Given the description of an element on the screen output the (x, y) to click on. 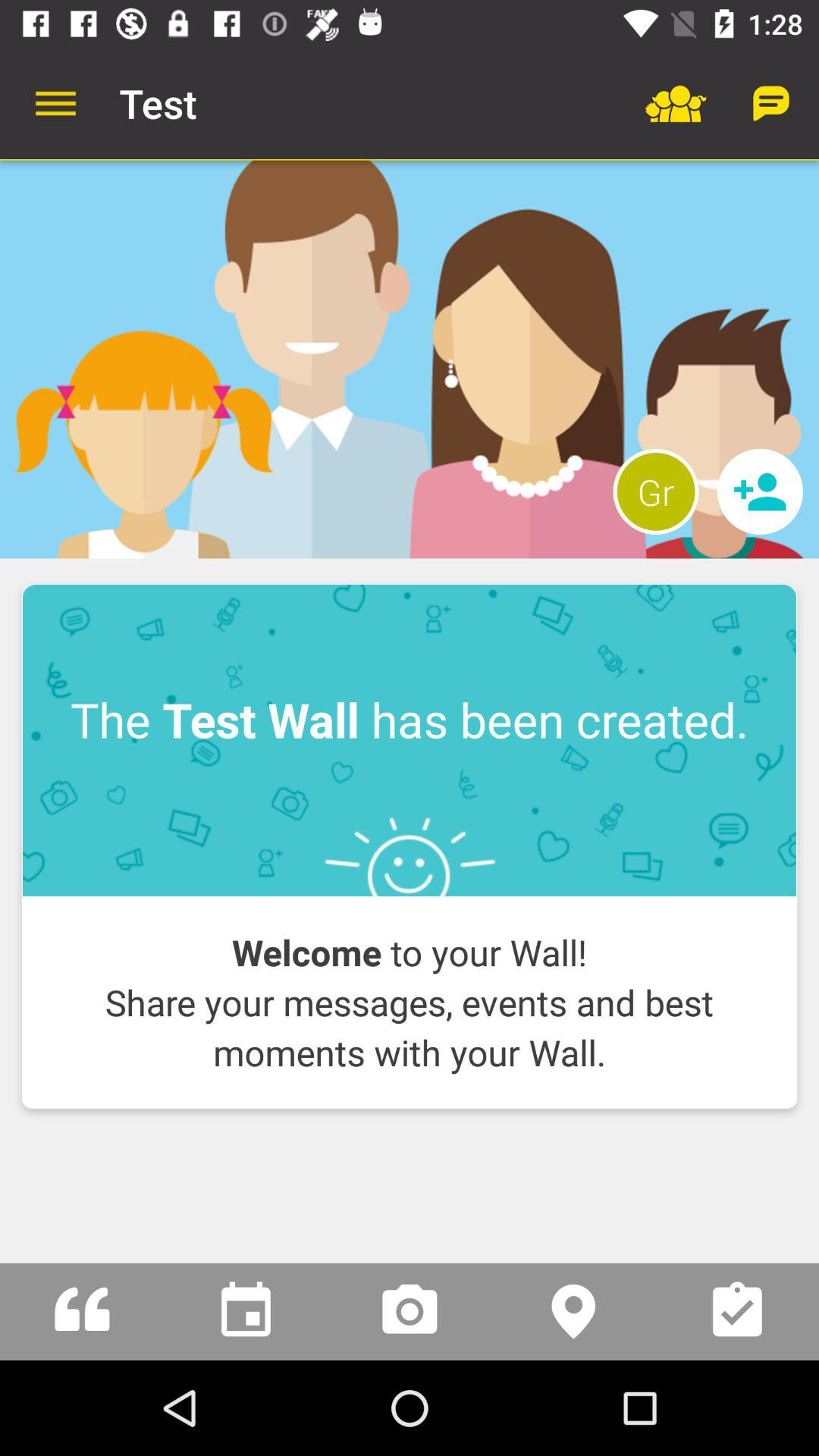
background profile picture set up (409, 359)
